Given the description of an element on the screen output the (x, y) to click on. 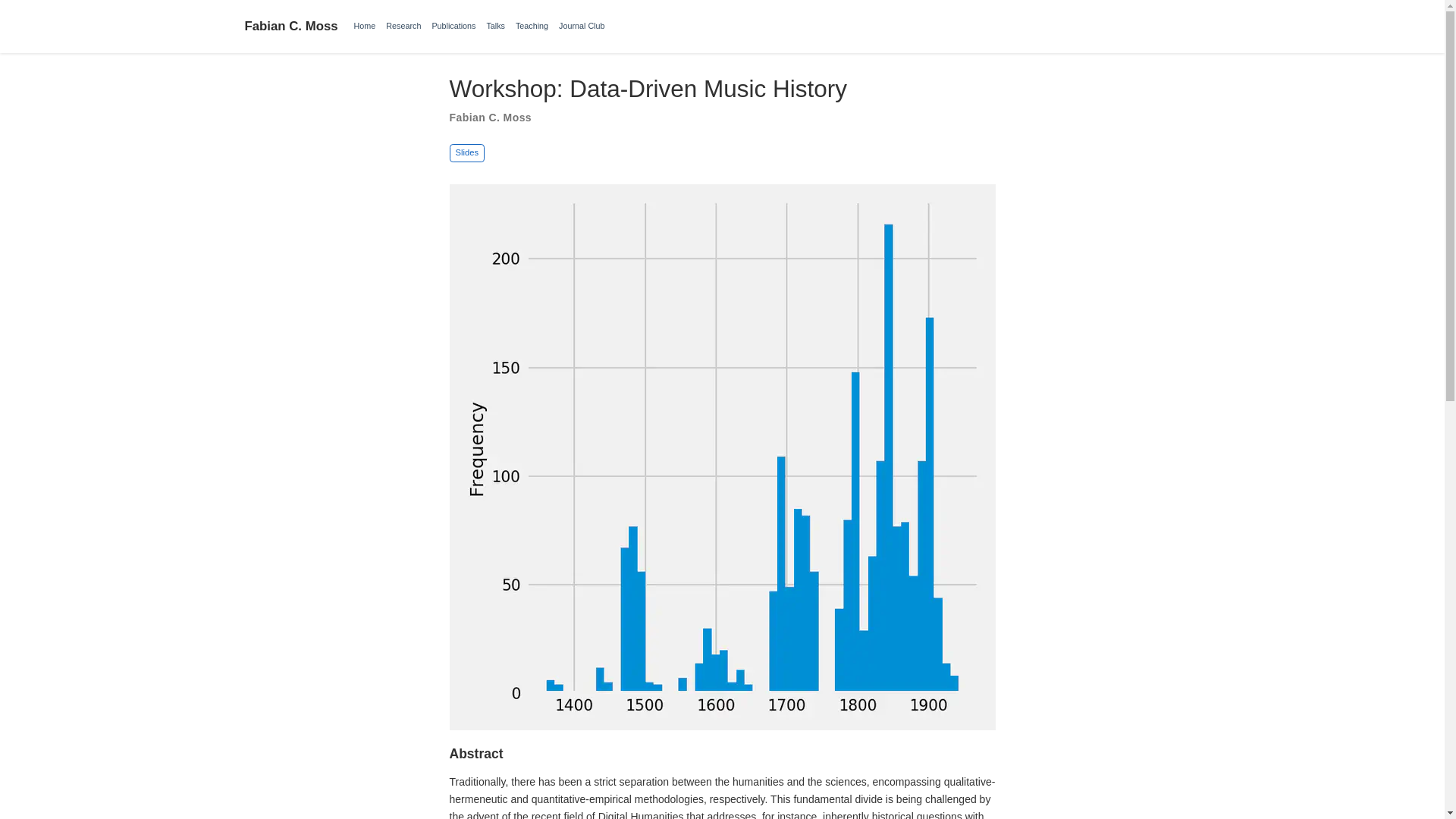
Teaching (532, 25)
Research (403, 25)
Talks (495, 25)
Fabian C. Moss (290, 26)
Publications (453, 25)
Journal Club (581, 25)
Slides (465, 152)
Home (365, 25)
